Given the description of an element on the screen output the (x, y) to click on. 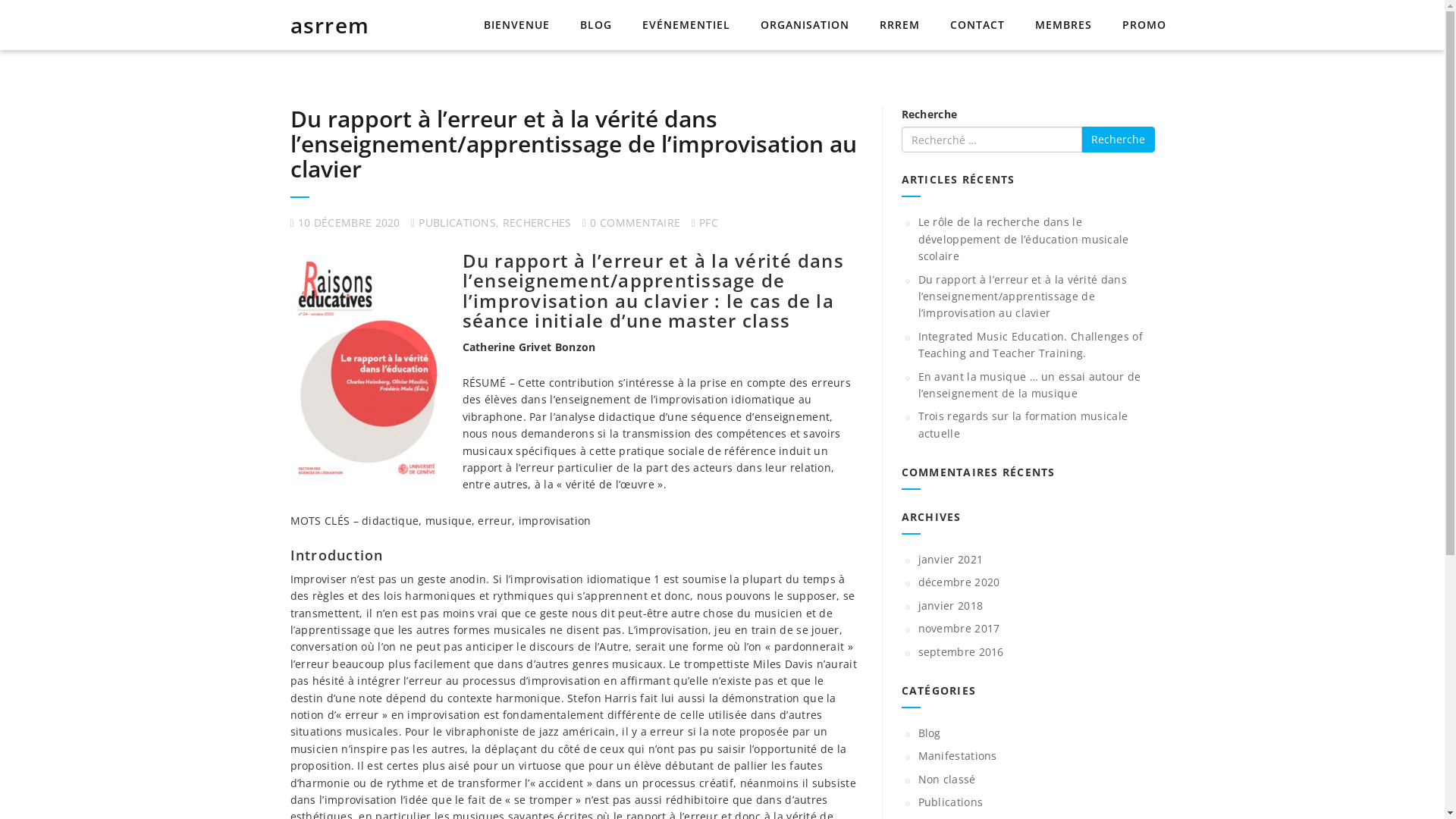
septembre 2016 Element type: text (960, 651)
RRREM Element type: text (899, 25)
Blog Element type: text (928, 732)
Manifestations Element type: text (956, 755)
CONTACT Element type: text (976, 25)
janvier 2021 Element type: text (949, 559)
PROMO Element type: text (1144, 25)
PFC Element type: text (708, 222)
BLOG Element type: text (595, 25)
MEMBRES Element type: text (1062, 25)
Trois regards sur la formation musicale actuelle Element type: text (1022, 423)
BIENVENUE Element type: text (516, 25)
janvier 2018 Element type: text (949, 605)
PUBLICATIONS Element type: text (456, 222)
Publications Element type: text (949, 801)
novembre 2017 Element type: text (958, 628)
RECHERCHES Element type: text (536, 222)
ORGANISATION Element type: text (803, 25)
asrrem Element type: text (330, 25)
Recherche Element type: text (1117, 139)
